Given the description of an element on the screen output the (x, y) to click on. 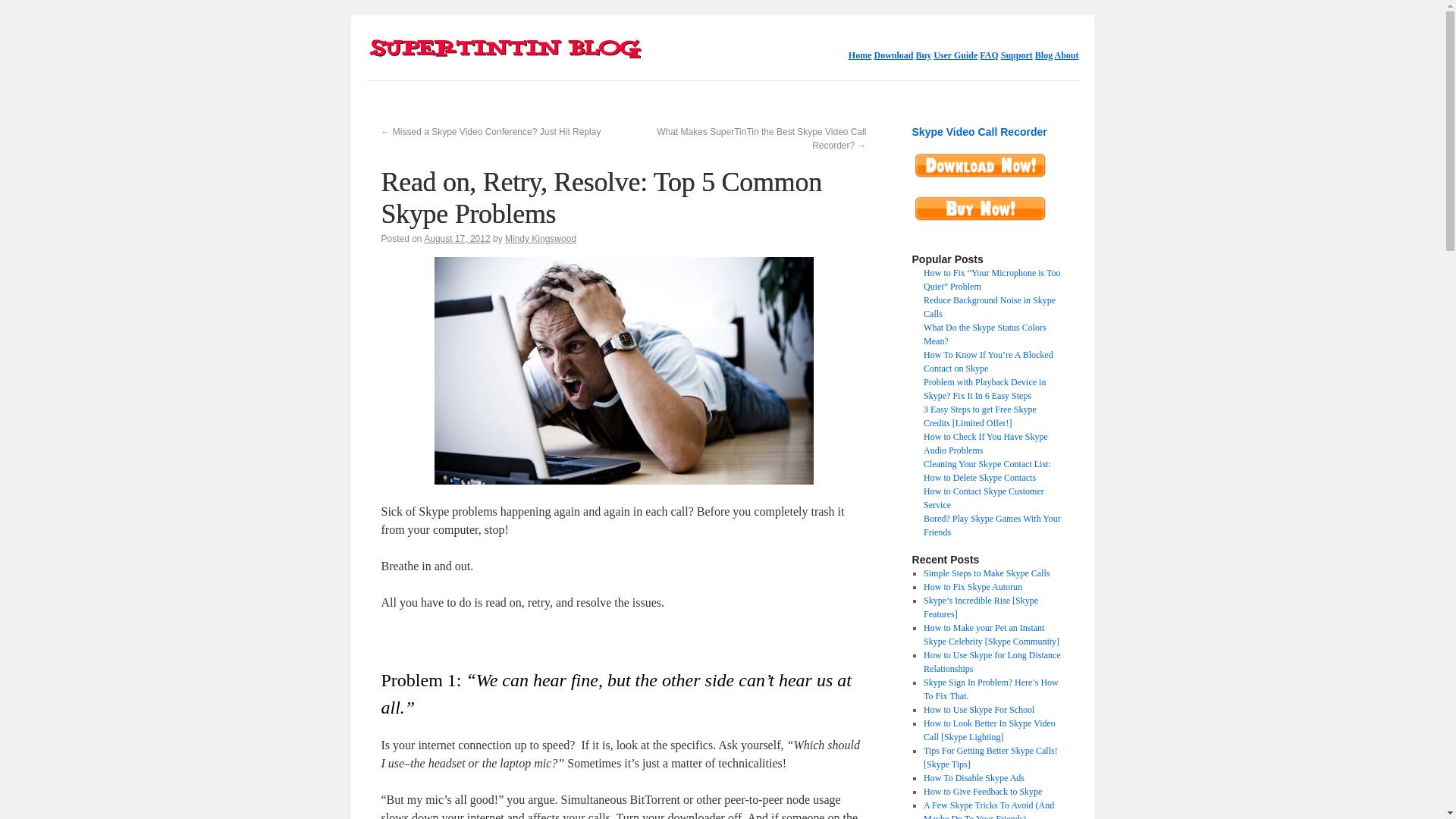
What Do the Skype Status Colors Mean? (984, 334)
August 17, 2012 (456, 238)
How to Contact Skype Customer Service (983, 498)
About (1066, 54)
Download (892, 54)
Blog (1043, 54)
Buy (923, 54)
Support (1016, 54)
Reduce Background Noise in Skype Calls (989, 306)
User Guide (954, 54)
FAQ (988, 54)
Bored? Play Skype Games With Your Friends (992, 525)
View all posts by Mindy Kingswood (540, 238)
